Given the description of an element on the screen output the (x, y) to click on. 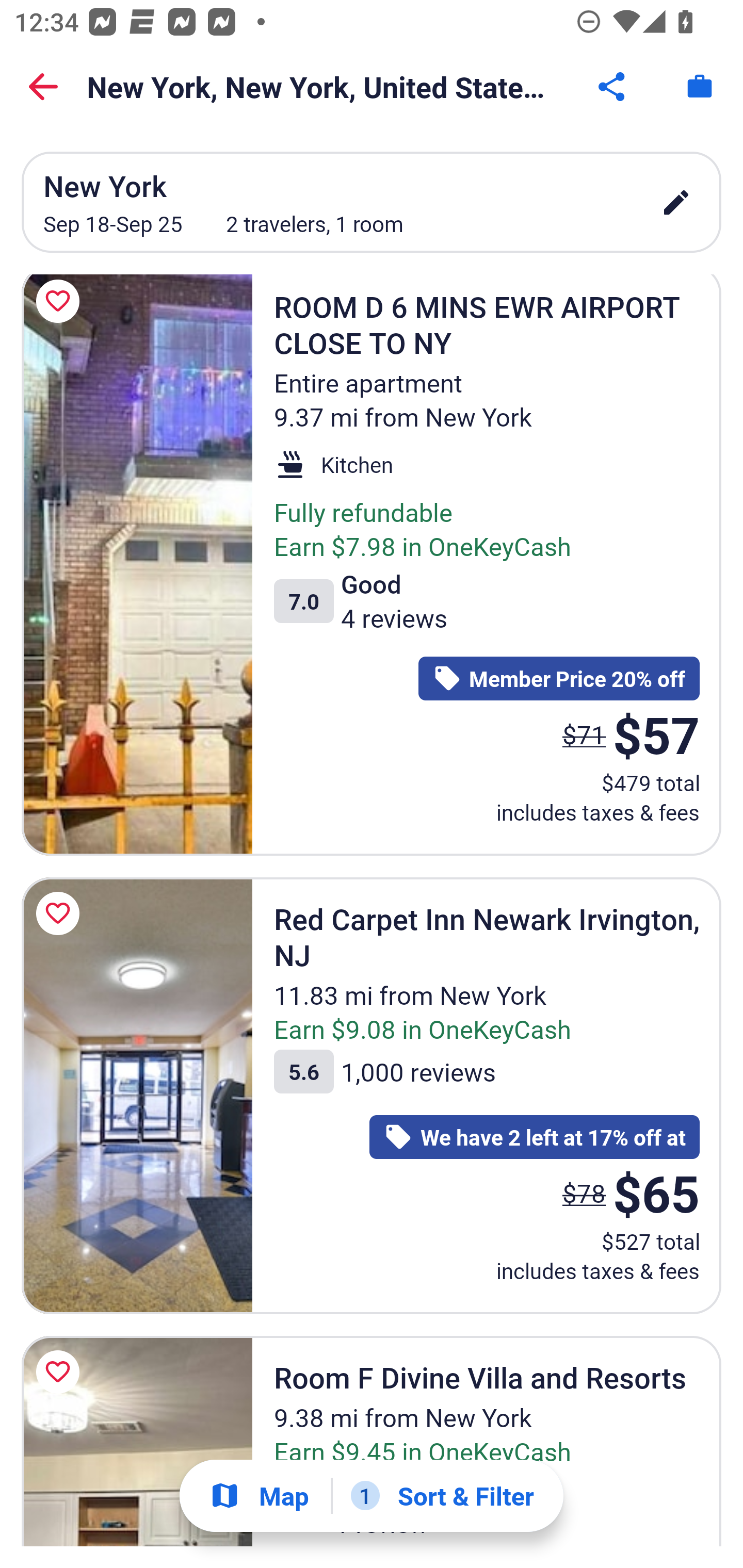
Back (43, 86)
Share Button (612, 86)
Trips. Button (699, 86)
New York Sep 18-Sep 25 2 travelers, 1 room edit (371, 202)
ROOM D 6 MINS EWR AIRPORT CLOSE TO NY (136, 565)
$71 The price was $71 (583, 734)
Save Red Carpet Inn Newark Irvington, NJ to a trip (61, 913)
Red Carpet Inn Newark Irvington, NJ (136, 1095)
$78 The price was $78 (583, 1192)
Save Room F Divine Villa and Resorts to a trip (61, 1371)
Room F Divine Villa and Resorts (136, 1440)
1 Sort & Filter 1 Filter applied. Filters Button (442, 1495)
Show map Map Show map Button (258, 1495)
